Given the description of an element on the screen output the (x, y) to click on. 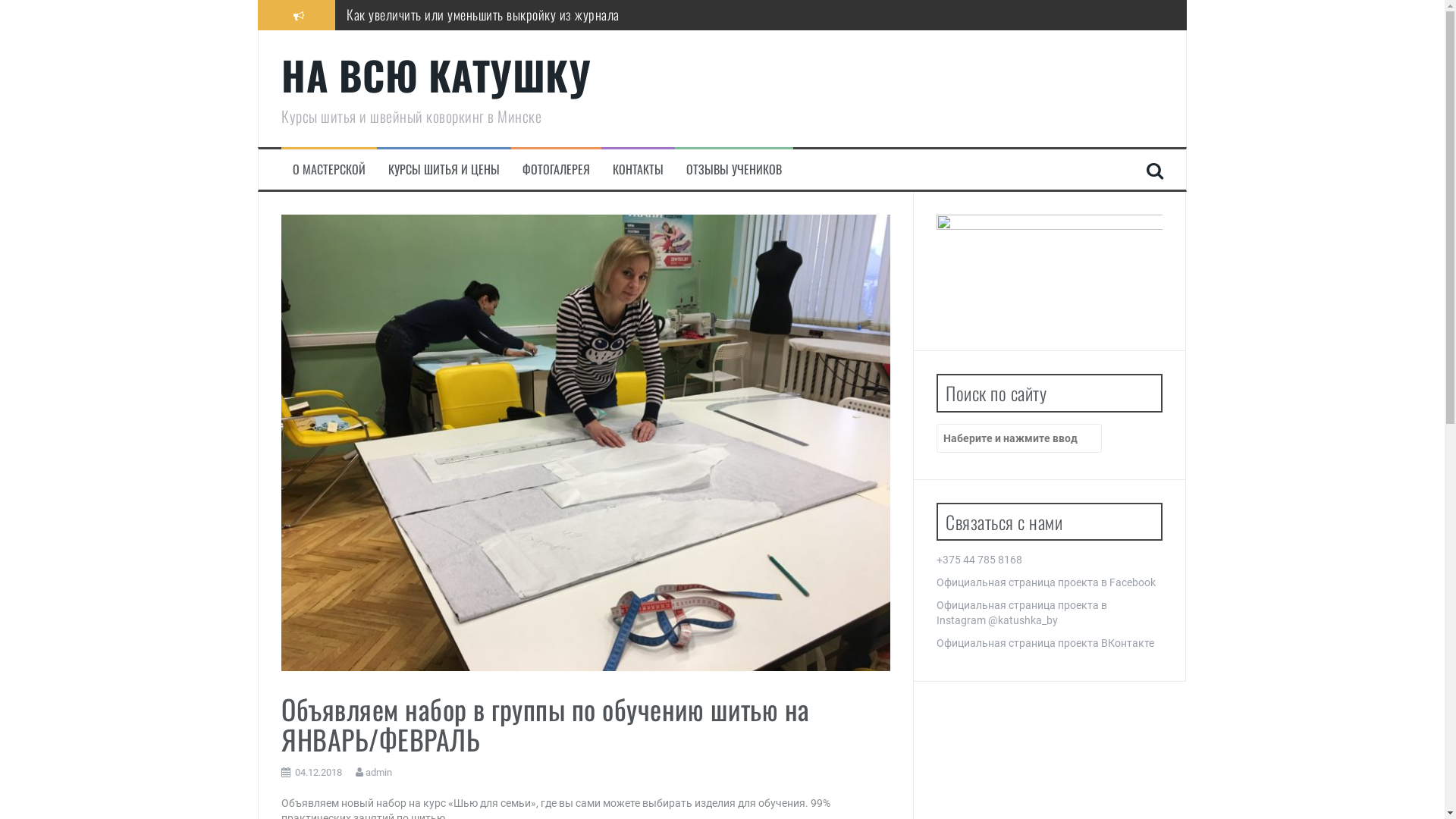
admin Element type: text (378, 772)
04.12.2018 Element type: text (318, 772)
@katushka_by Element type: text (1022, 620)
